Given the description of an element on the screen output the (x, y) to click on. 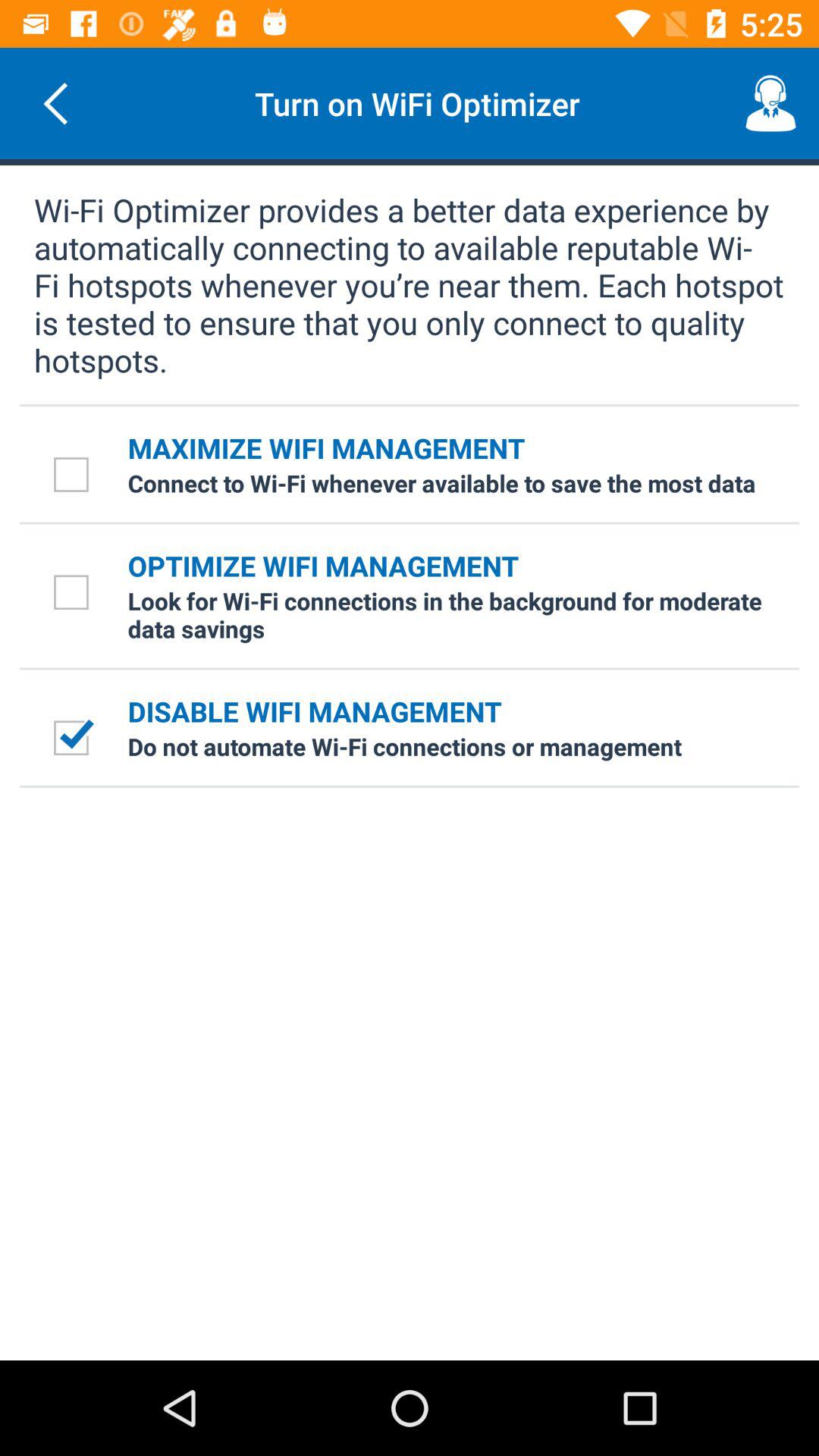
turn on the icon at the top right corner (771, 103)
